Given the description of an element on the screen output the (x, y) to click on. 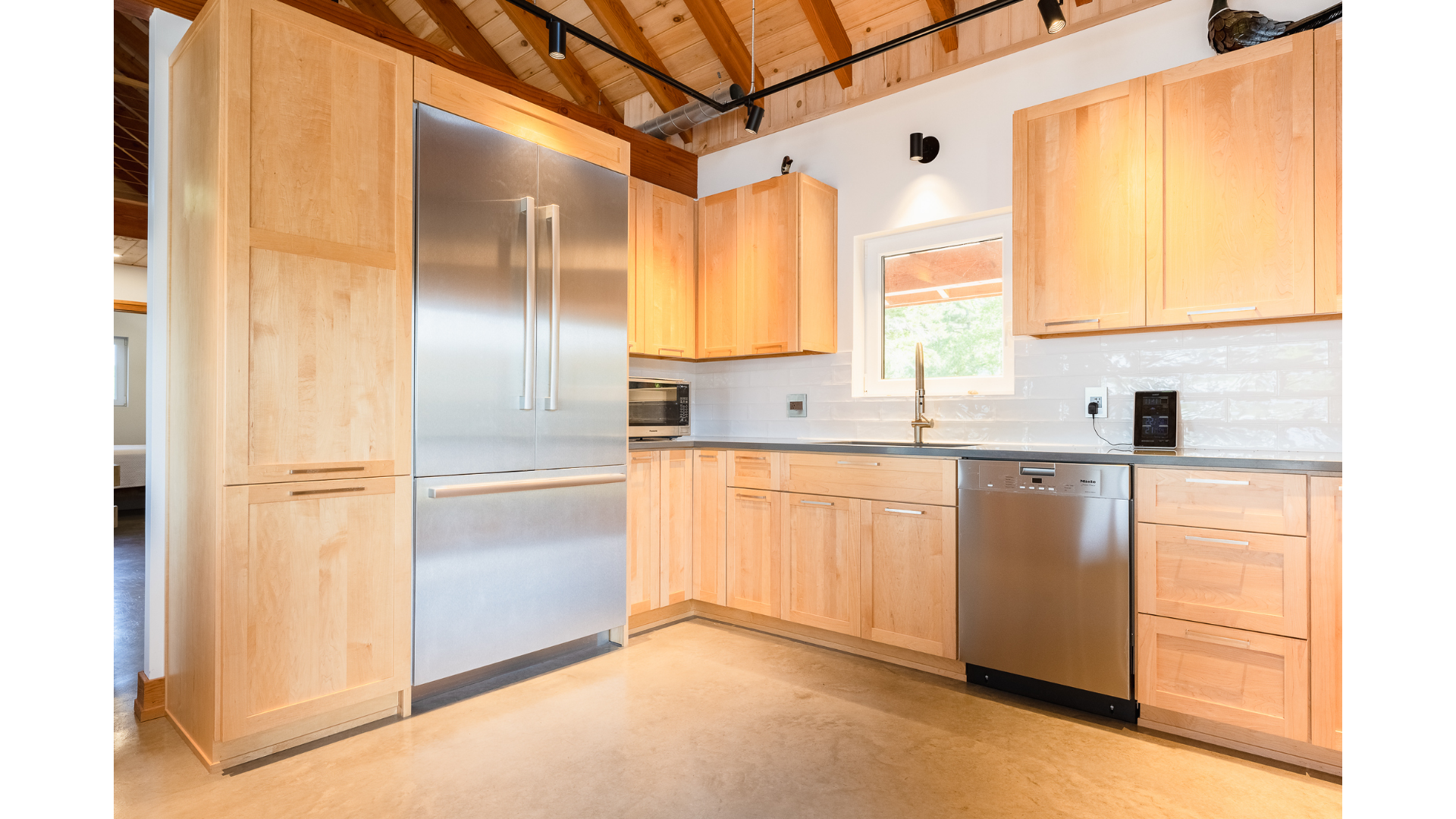
WHAT'S NEW Element type: text (109, 228)
ABOUT Element type: text (109, 321)
Share Gallery Element type: hover (1354, 415)
PURCHASING Element type: text (108, 415)
PORTFOLIO Element type: text (108, 259)
Slideshow Element type: hover (1392, 415)
HOME Element type: text (109, 290)
CONTACT Element type: text (108, 352)
REAL ESTATE PHOTOGRAPHY Element type: text (109, 446)
SEARCH Element type: text (109, 384)
BACALAO PHOTO Element type: text (109, 82)
